Given the description of an element on the screen output the (x, y) to click on. 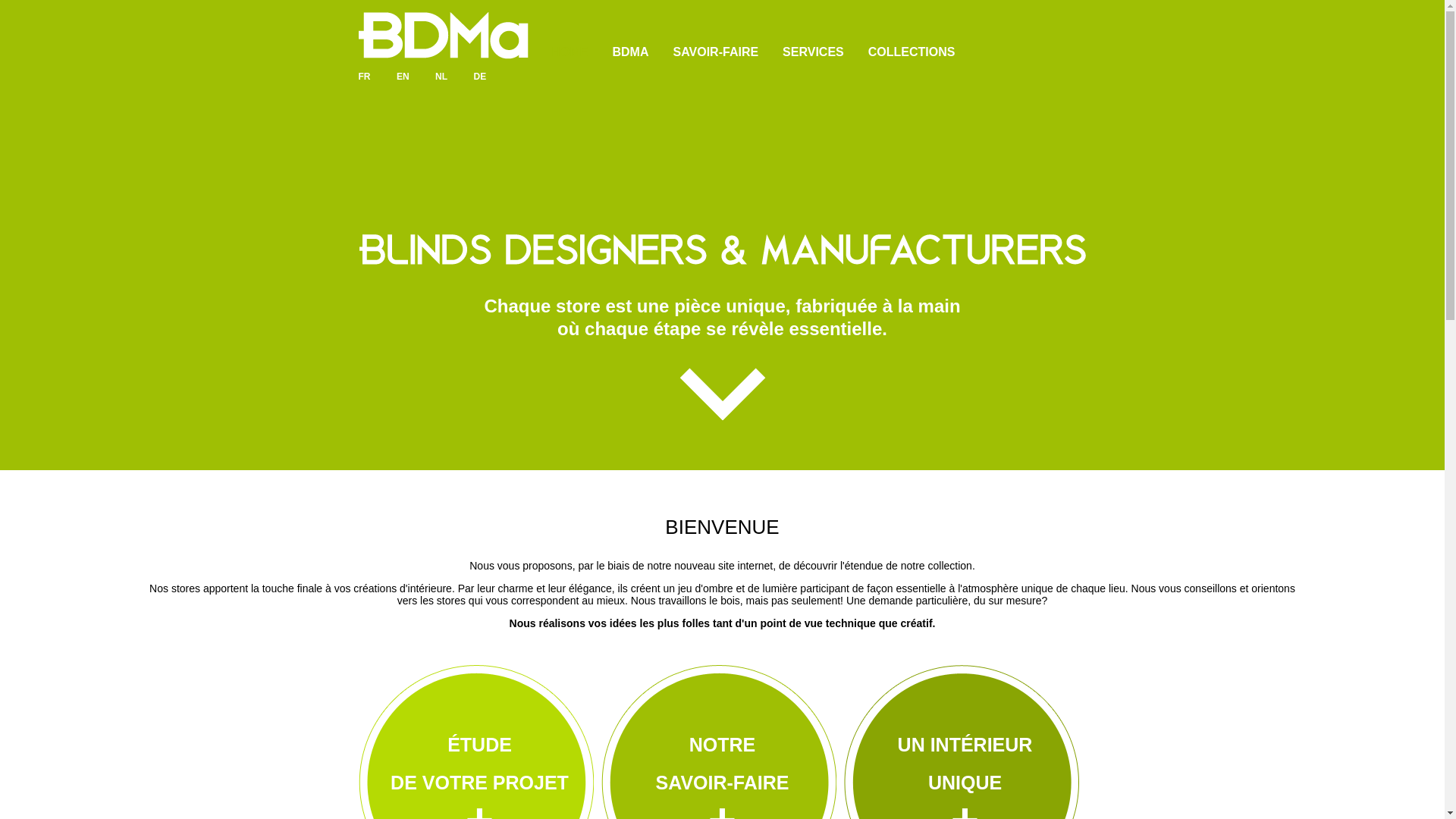
COLLECTIONS Element type: text (911, 51)
SAVOIR-FAIRE Element type: text (716, 51)
EN Element type: text (402, 76)
HOME Element type: text (570, 51)
SERVICES Element type: text (813, 51)
BLINDS DESIGNERS & MANUFACTURERS Element type: hover (722, 249)
BDMA Element type: text (630, 51)
DE Element type: text (479, 76)
FR Element type: text (363, 76)
NL Element type: text (441, 76)
